Given the description of an element on the screen output the (x, y) to click on. 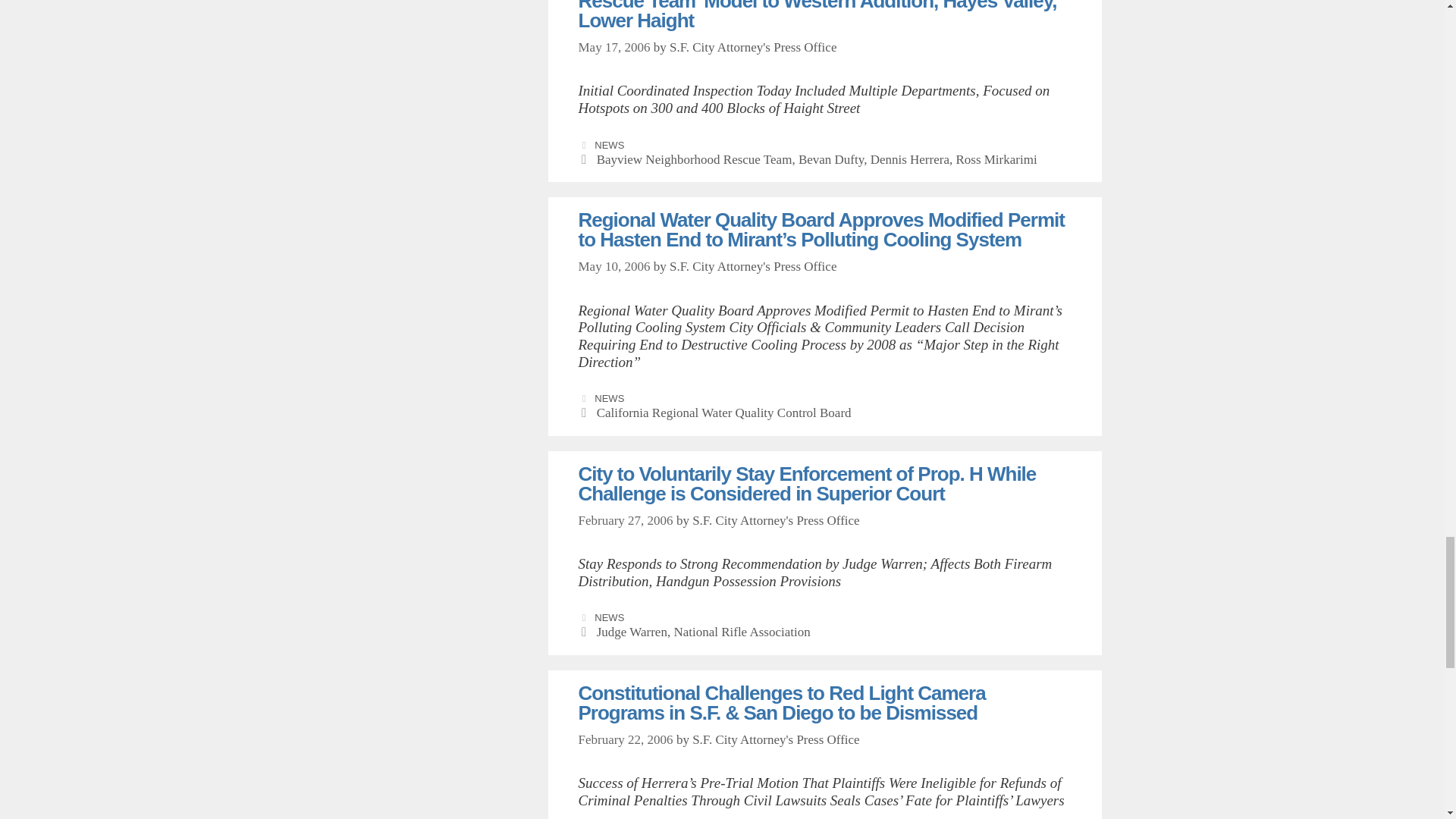
View all posts by S.F. City Attorney's Press Office (753, 47)
